Given the description of an element on the screen output the (x, y) to click on. 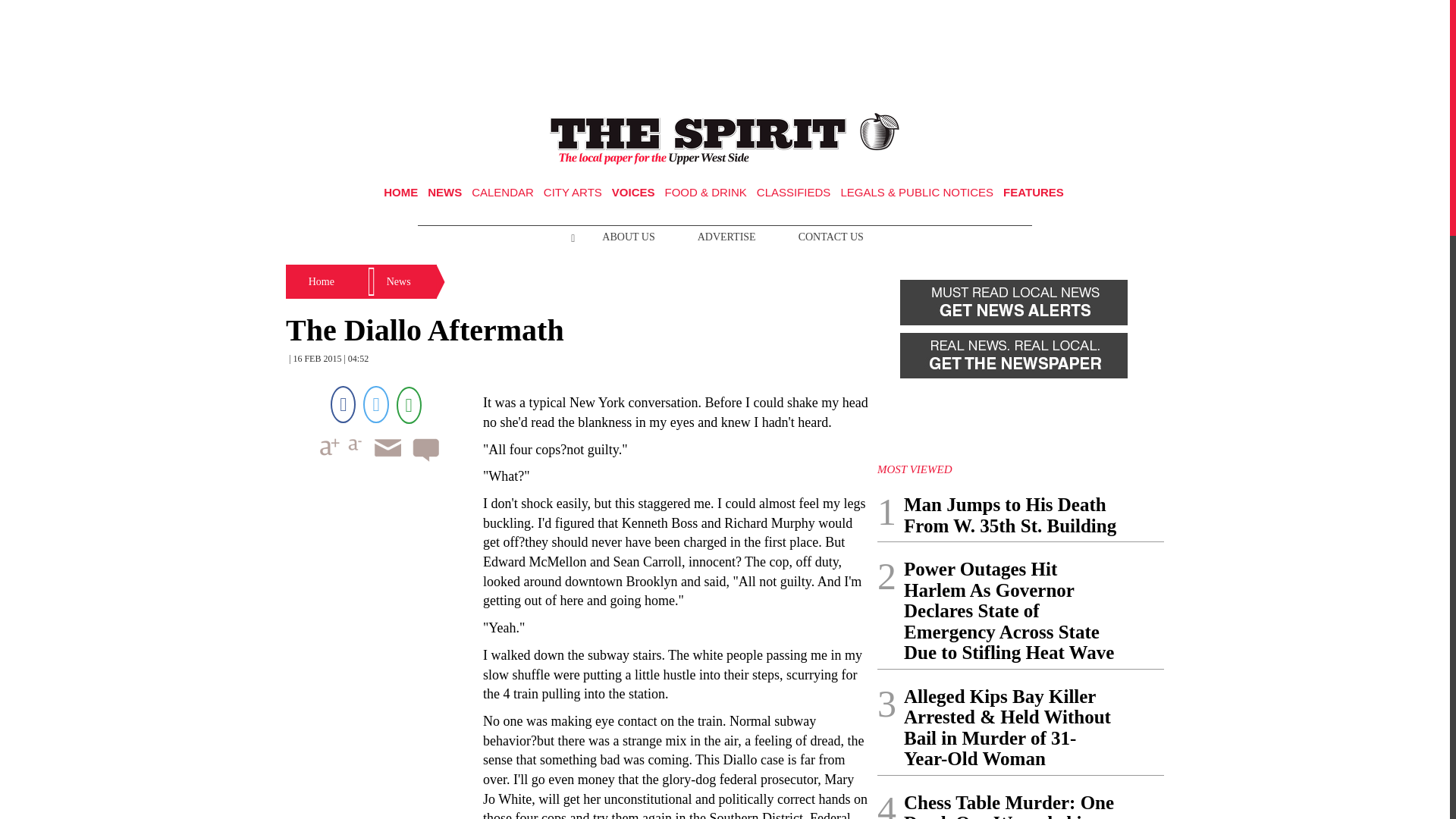
CALENDAR (502, 192)
CLASSIFIEDS (794, 192)
CONTACT US (831, 236)
ABOUT US (627, 236)
VOICES (633, 192)
ADVERTISE (726, 236)
CITY ARTS (572, 192)
HOME (400, 192)
FEATURES (1033, 192)
3rd party ad content (724, 49)
NEWS (444, 192)
